Given the description of an element on the screen output the (x, y) to click on. 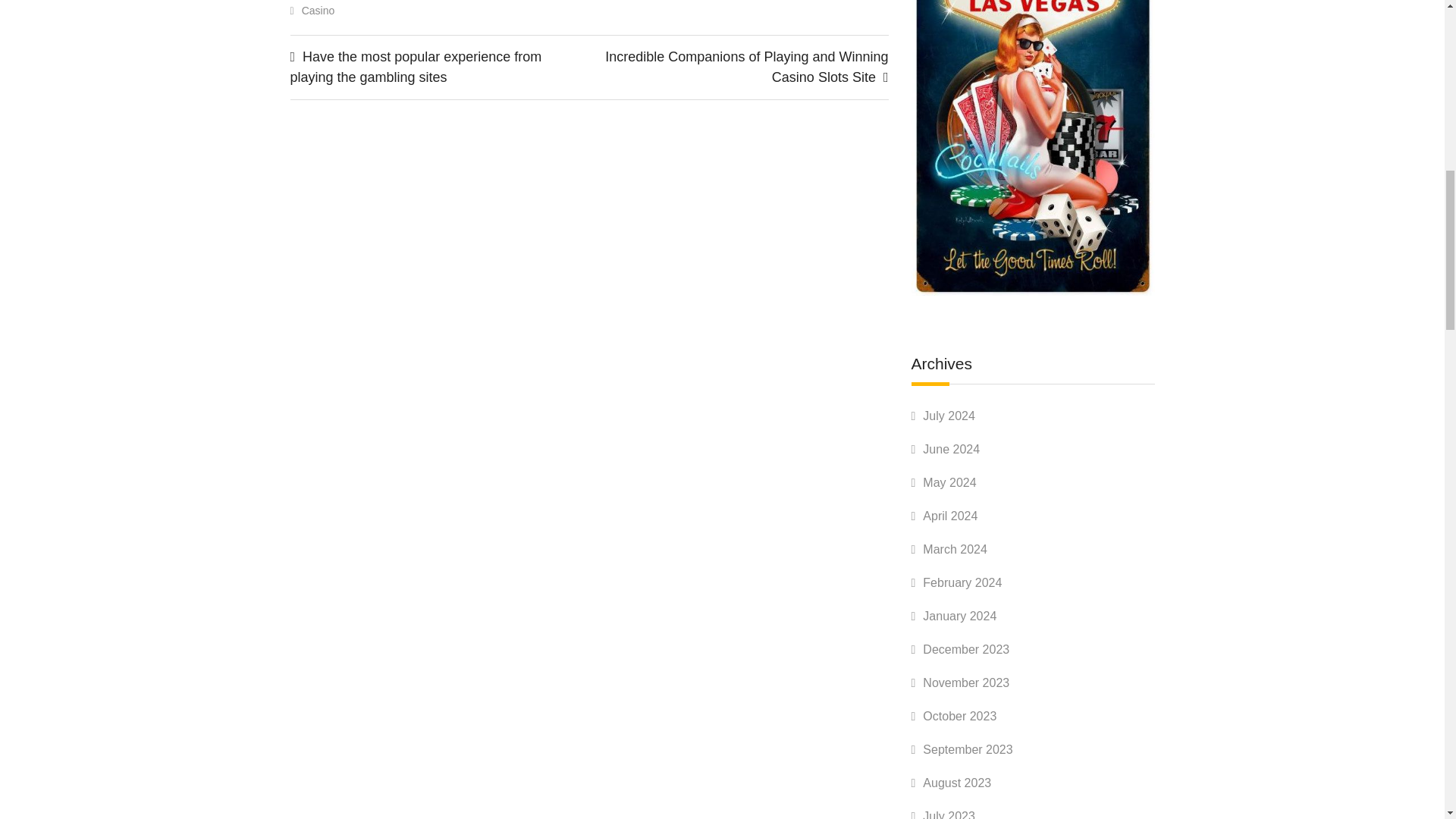
June 2024 (951, 449)
October 2023 (959, 716)
Casino (317, 10)
February 2024 (962, 582)
August 2023 (957, 782)
December 2023 (966, 649)
April 2024 (949, 515)
July 2024 (949, 415)
May 2024 (949, 481)
September 2023 (967, 748)
July 2023 (949, 814)
November 2023 (966, 682)
January 2024 (959, 615)
